Given the description of an element on the screen output the (x, y) to click on. 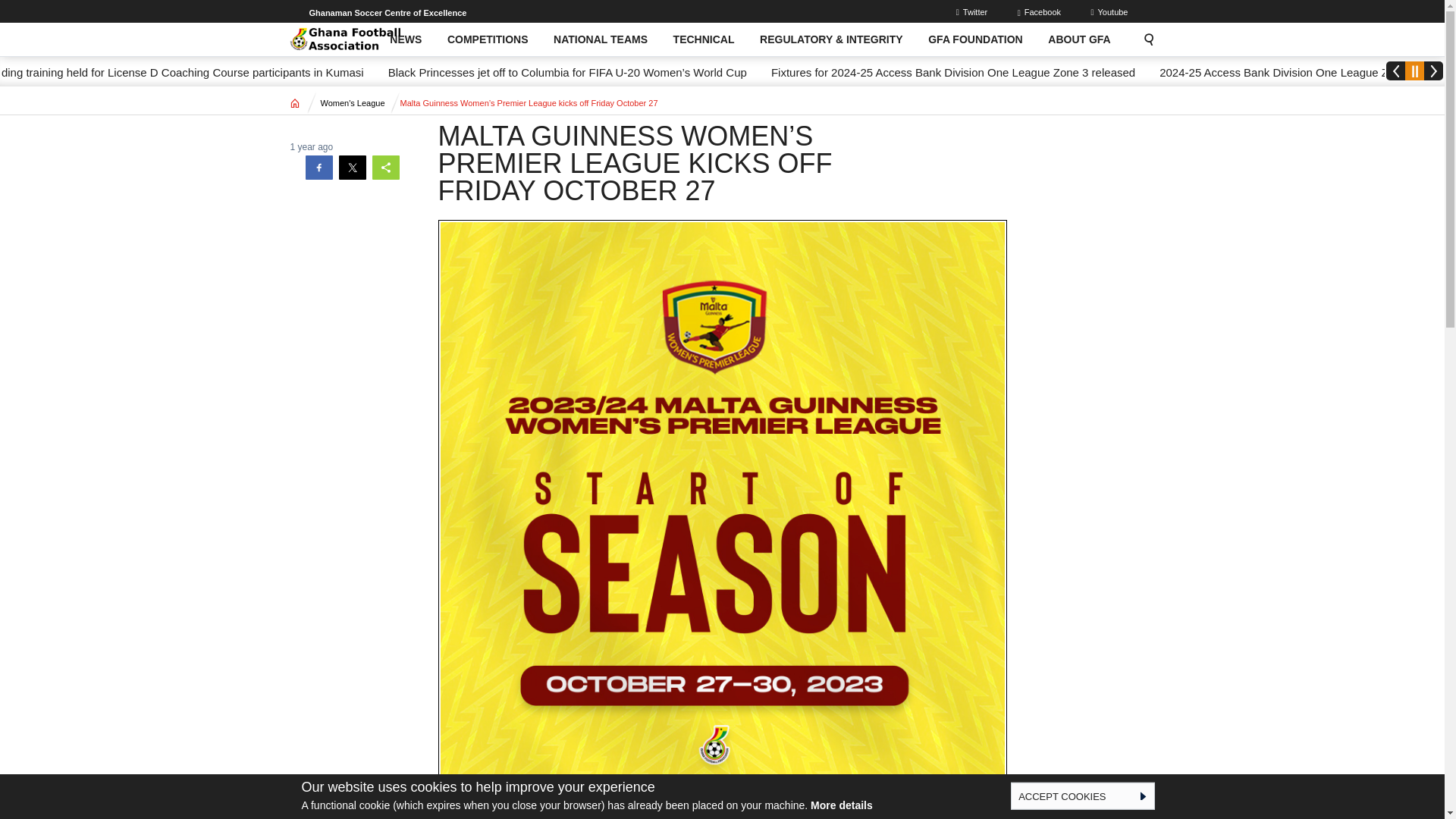
sign in (973, 11)
COMPETITIONS (487, 39)
sign in (1110, 11)
sign in (1040, 11)
NEWS (406, 39)
